Given the description of an element on the screen output the (x, y) to click on. 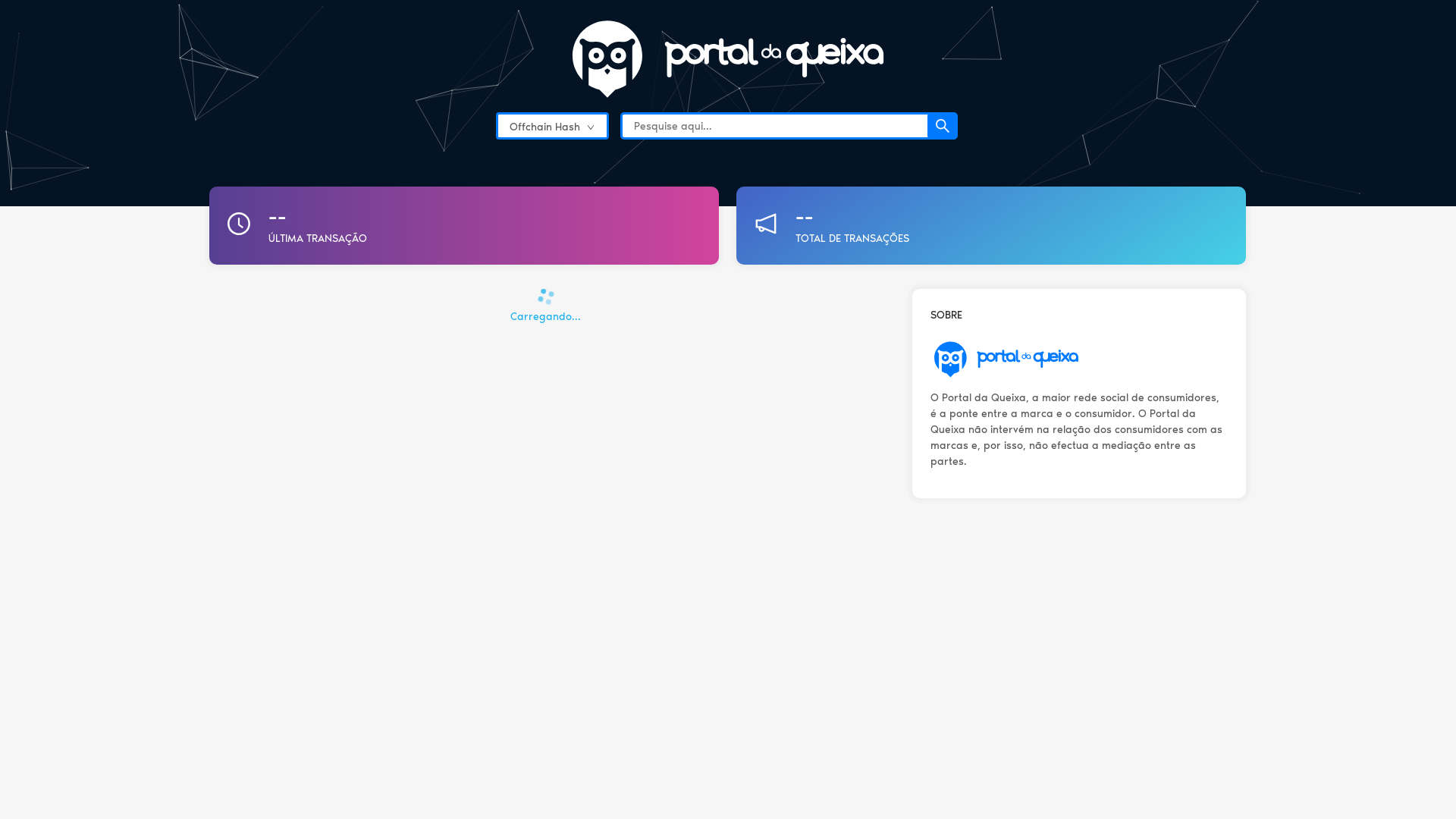
Offchain Hash Element type: text (551, 59)
